Given the description of an element on the screen output the (x, y) to click on. 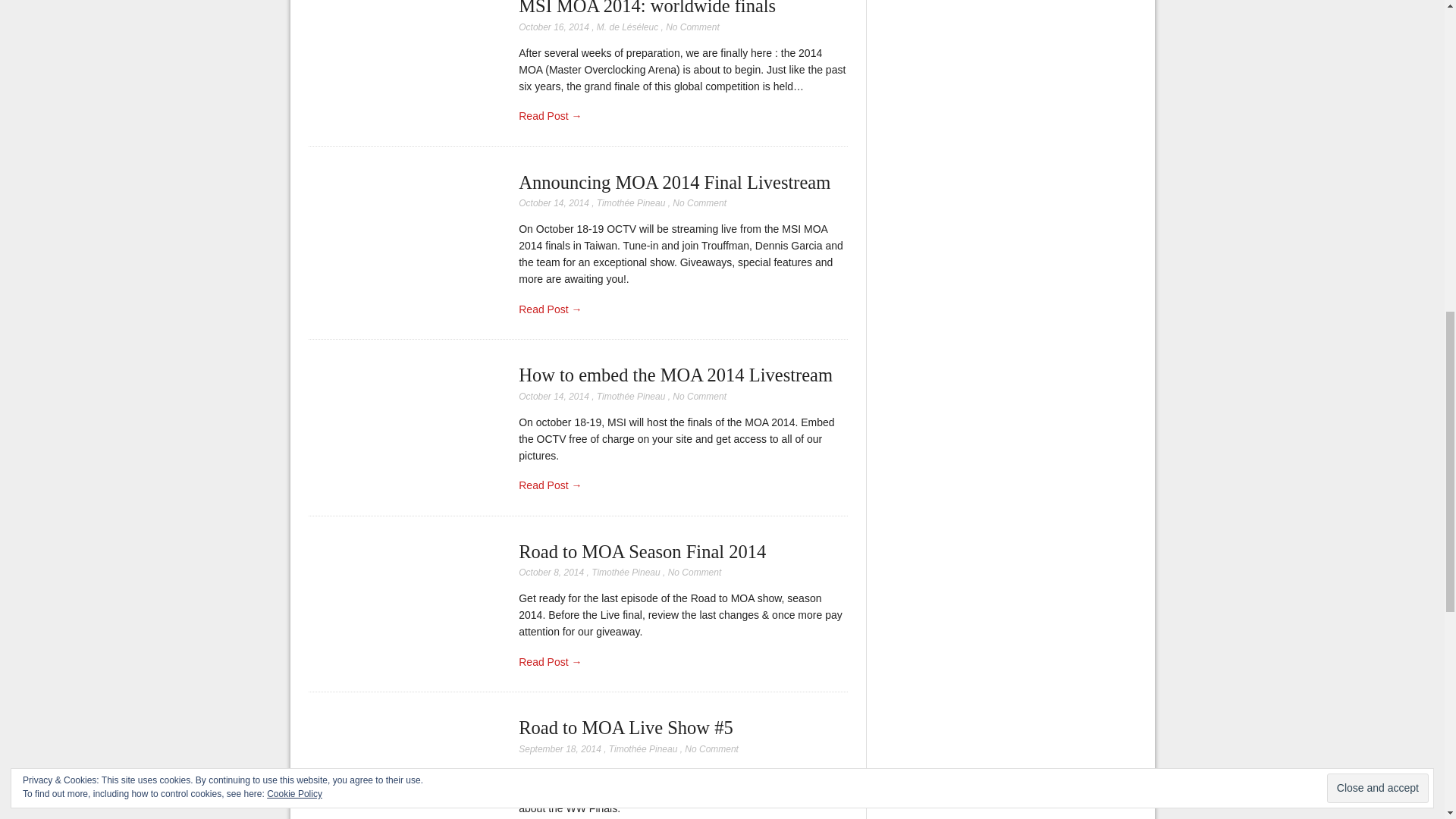
MSI MOA 2014: worldwide finals (647, 7)
No Comment (699, 396)
Announcing MOA 2014 Final Livestream (673, 181)
No Comment (699, 203)
Announcing MOA 2014 Final Livestream (673, 181)
How to embed the MOA 2014 Livestream (675, 374)
MSI MOA 2014: worldwide finals (647, 7)
No Comment (692, 27)
